Given the description of an element on the screen output the (x, y) to click on. 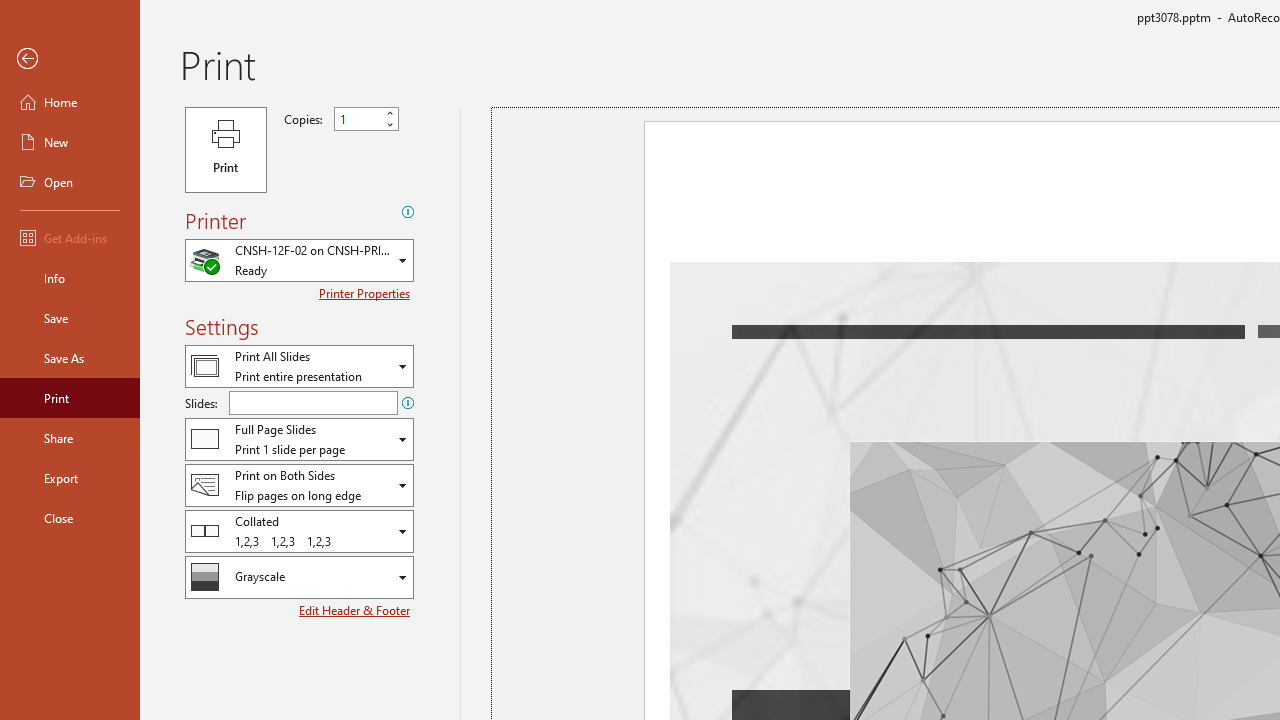
Slides (313, 402)
Slides and Handouts (299, 439)
Print (226, 149)
Which Printer (299, 260)
Collation (299, 530)
Export (69, 477)
Back (69, 59)
Printer Properties (365, 293)
Print What (299, 366)
Get Add-ins (69, 237)
